Given the description of an element on the screen output the (x, y) to click on. 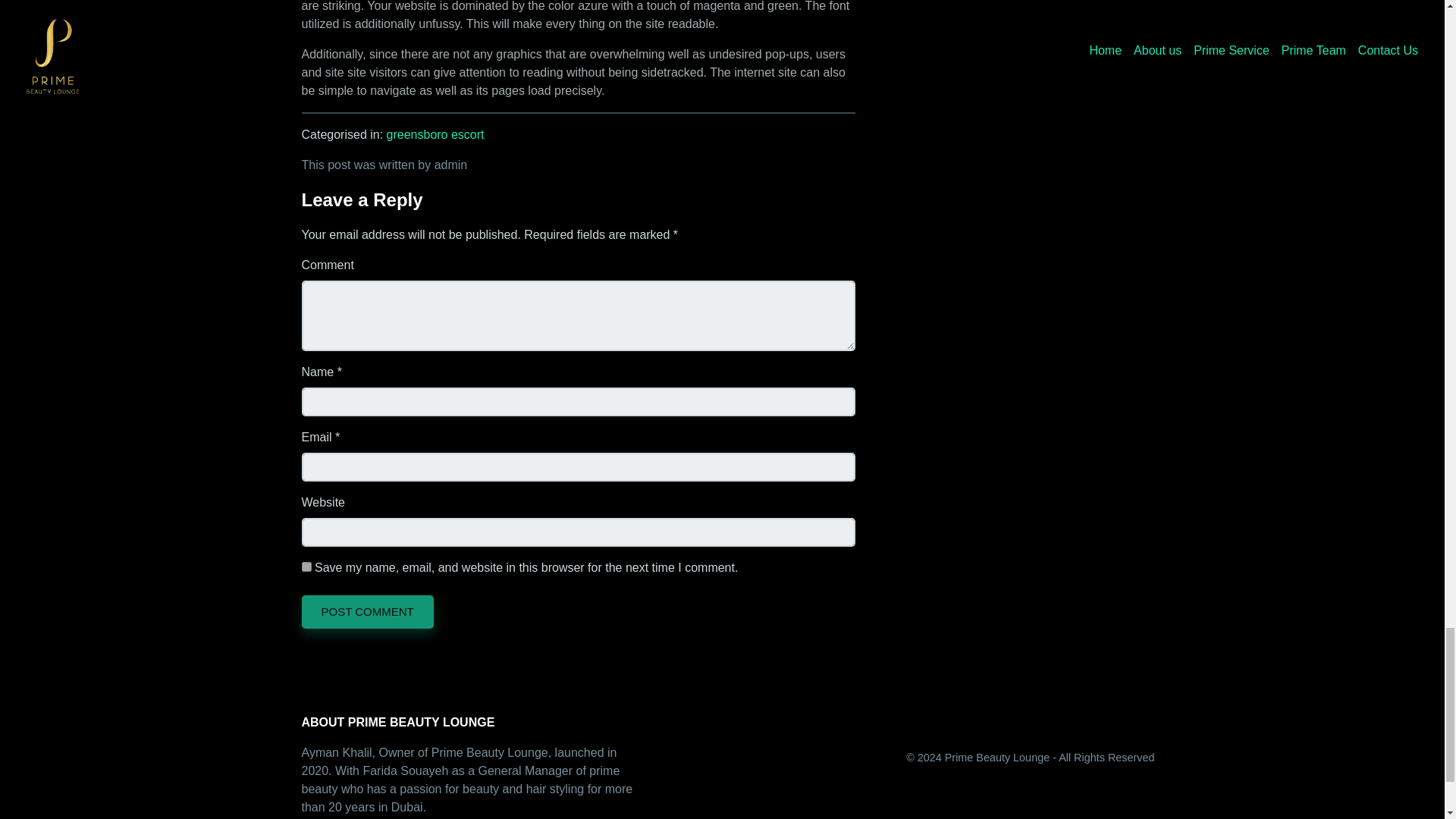
yes (306, 566)
greensboro escort (435, 133)
Post Comment (367, 611)
Post Comment (367, 611)
